Given the description of an element on the screen output the (x, y) to click on. 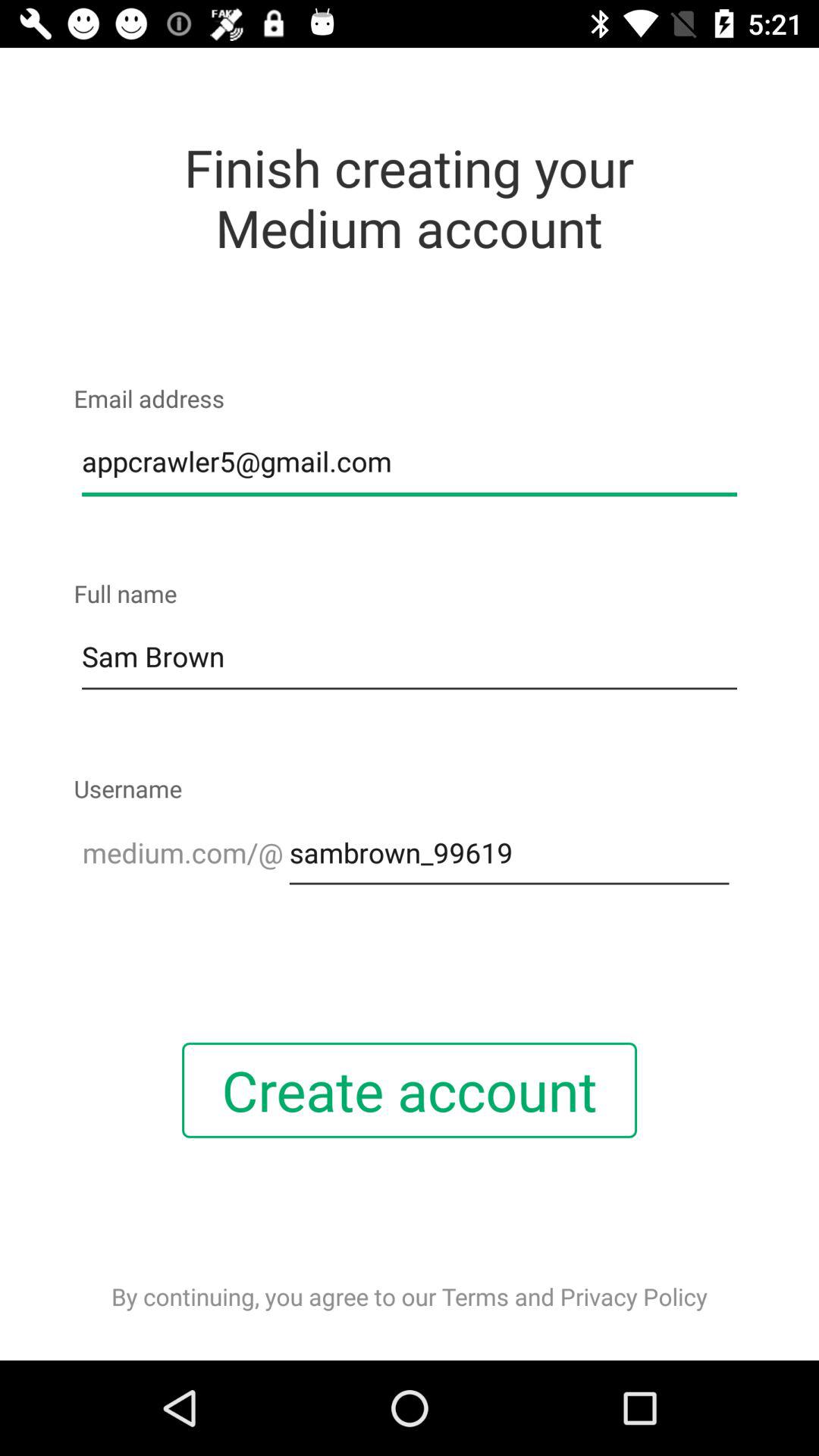
launch the item above the full name (409, 462)
